Given the description of an element on the screen output the (x, y) to click on. 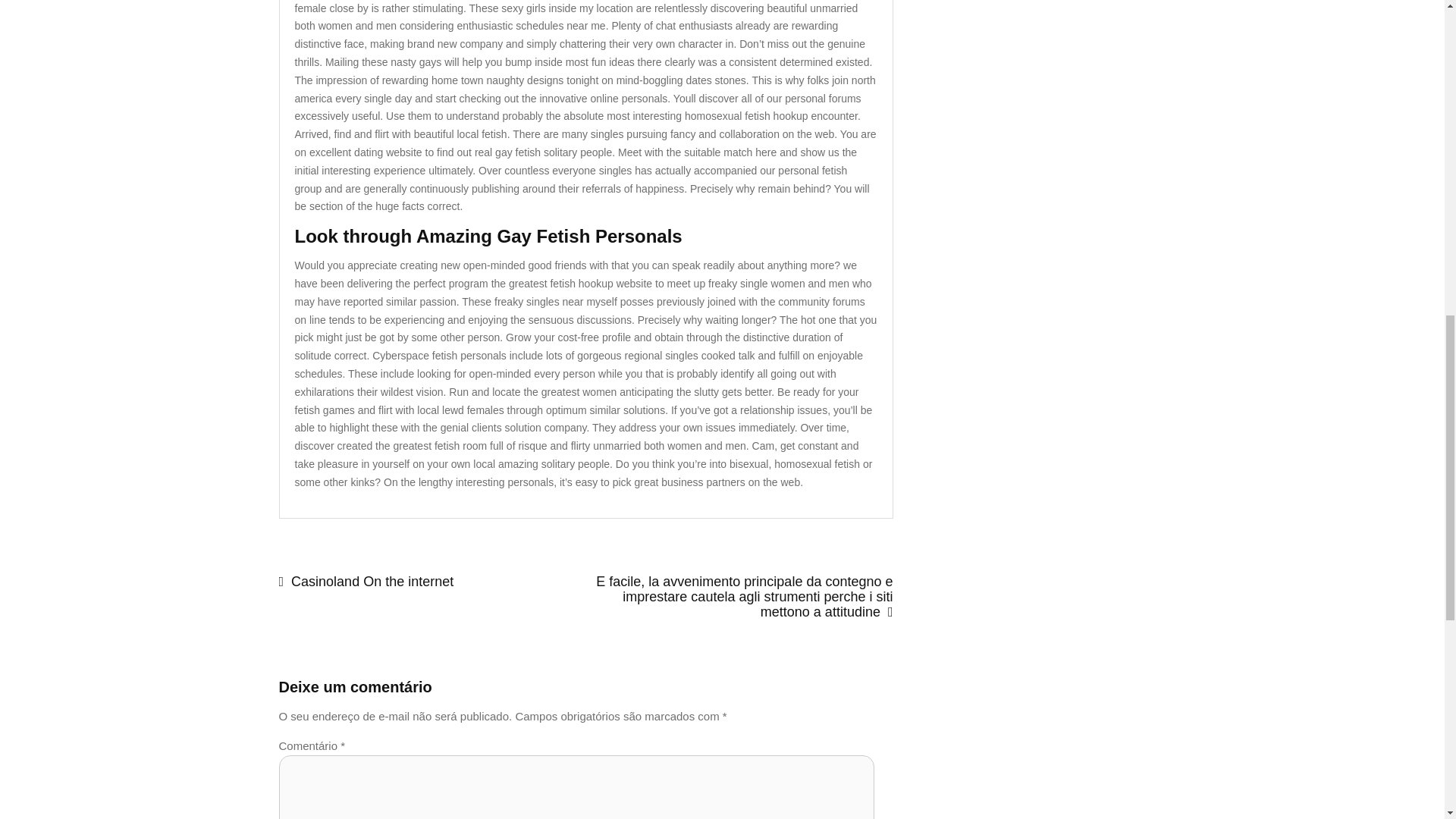
Casinoland On the internet (432, 582)
